Given the description of an element on the screen output the (x, y) to click on. 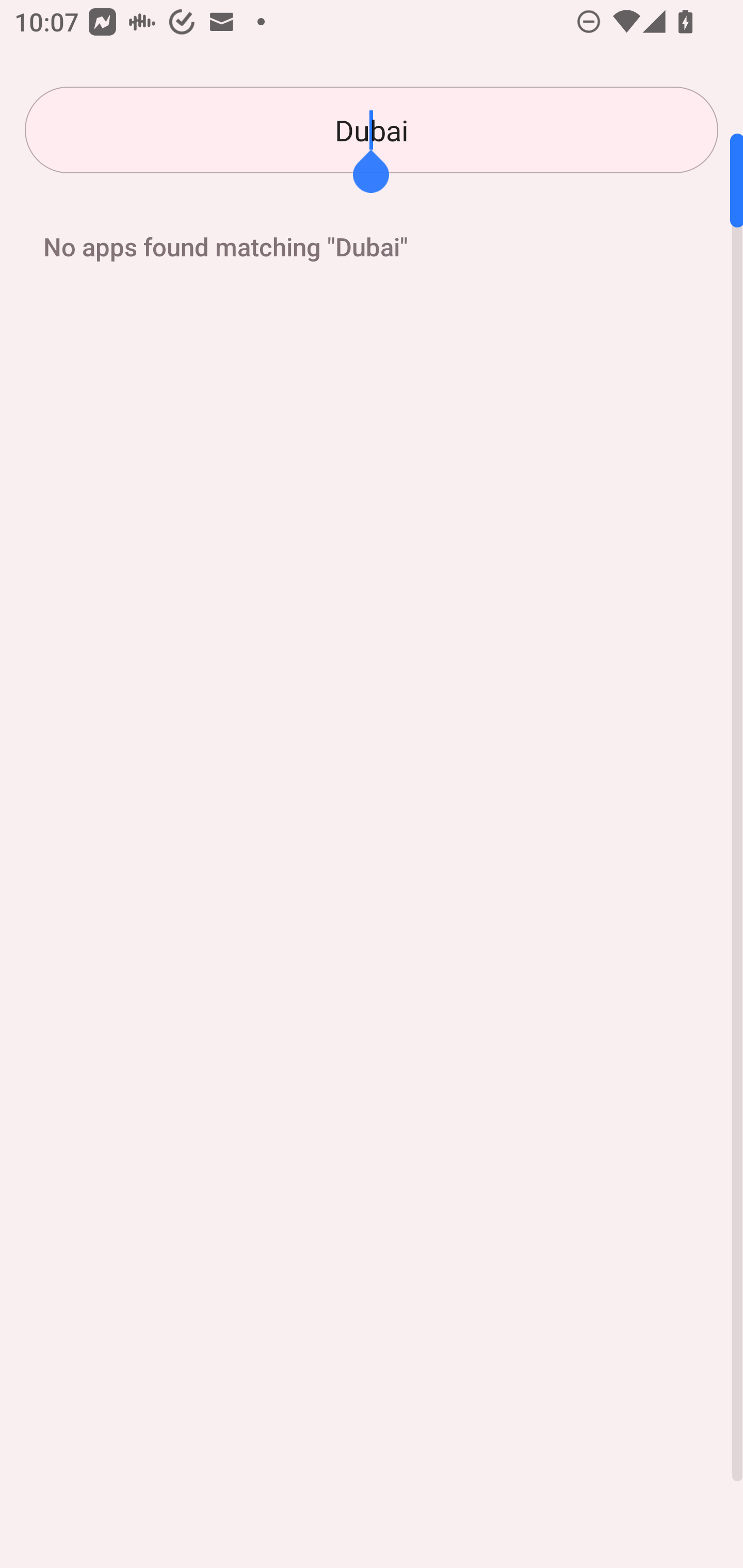
Dubai (371, 130)
